Given the description of an element on the screen output the (x, y) to click on. 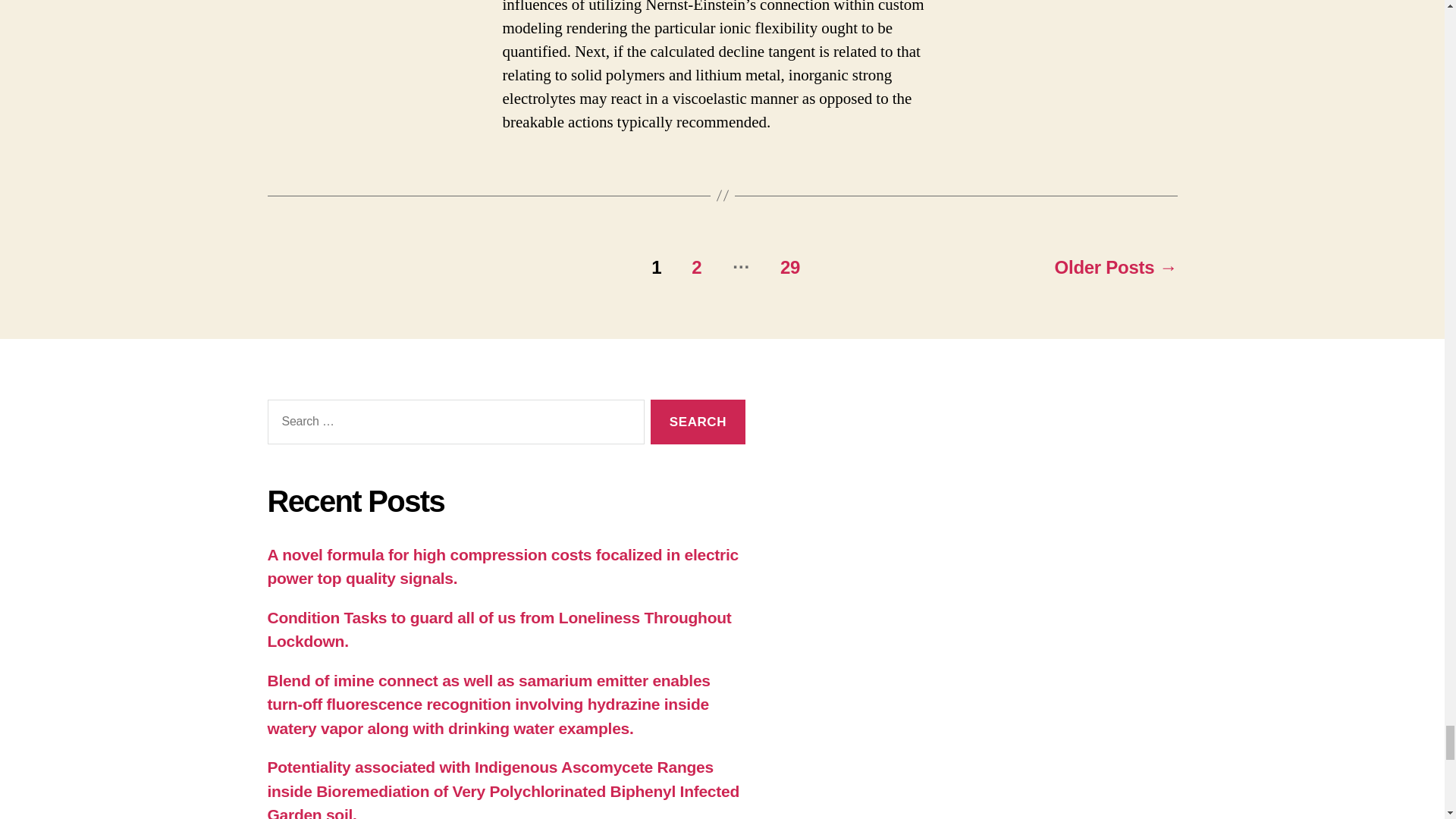
Search (697, 421)
Search (697, 421)
